Given the description of an element on the screen output the (x, y) to click on. 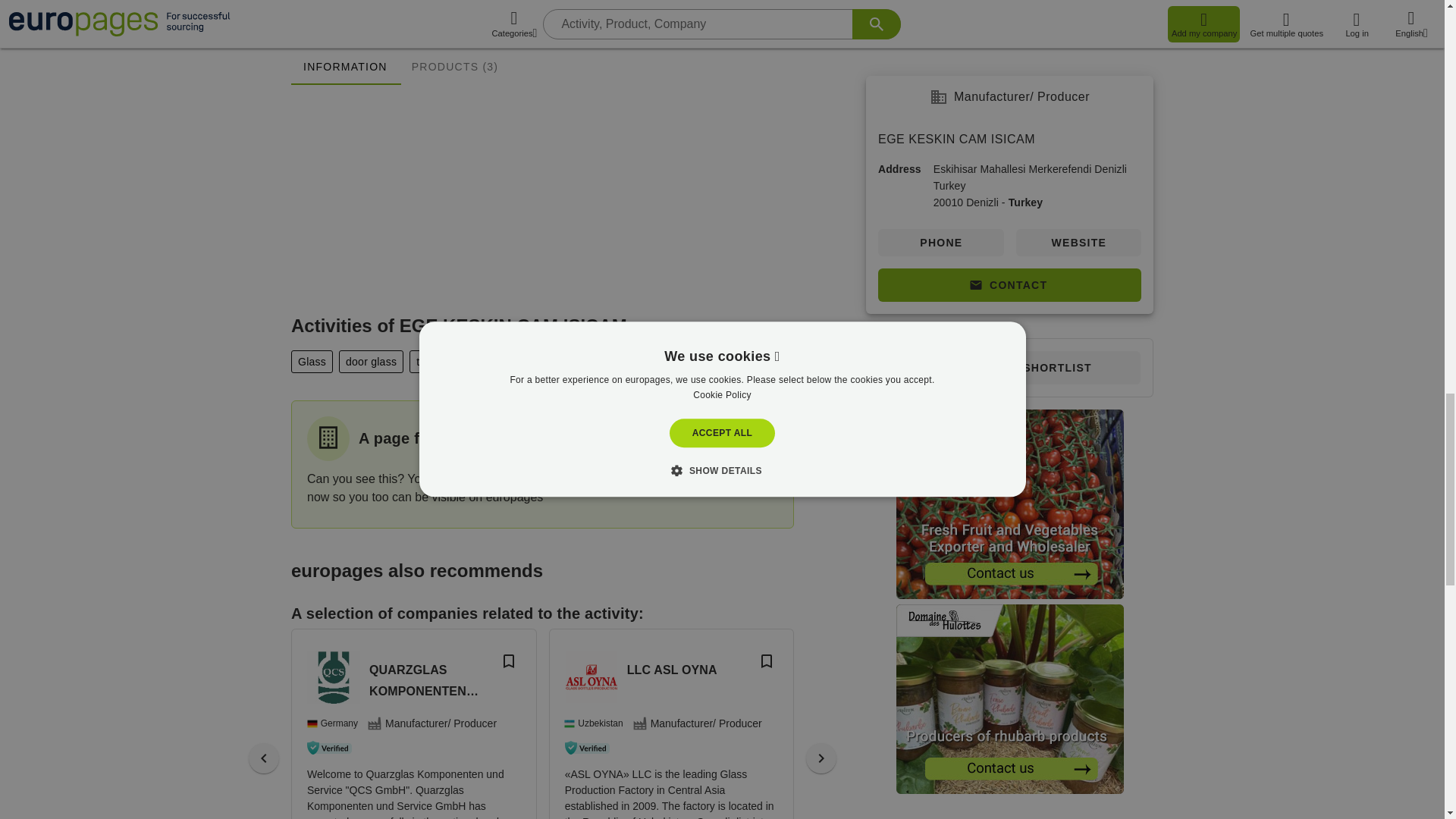
ADD MY BUSINESS (695, 463)
